Given the description of an element on the screen output the (x, y) to click on. 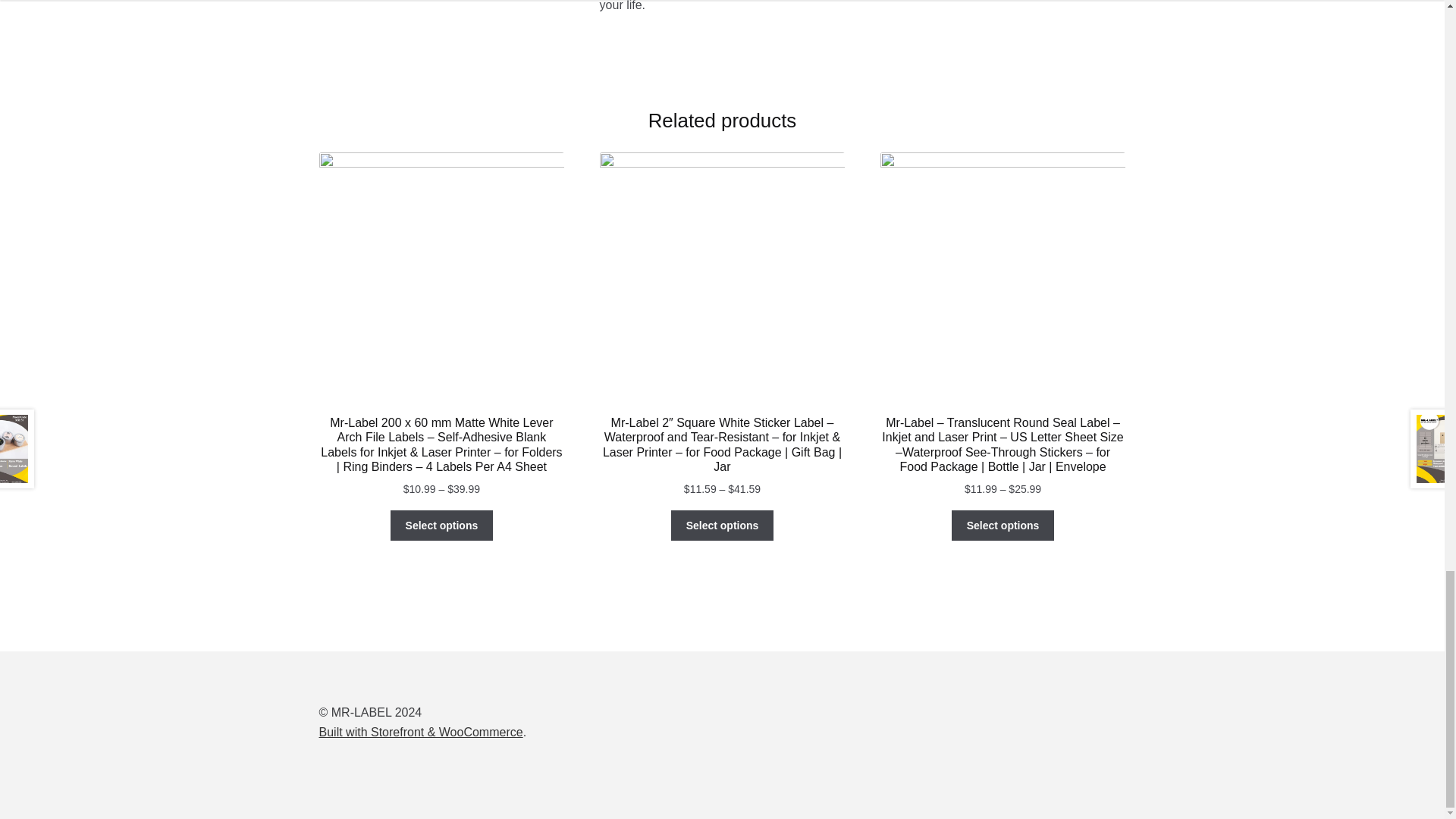
WooCommerce - The Best eCommerce Platform for WordPress (420, 731)
